Given the description of an element on the screen output the (x, y) to click on. 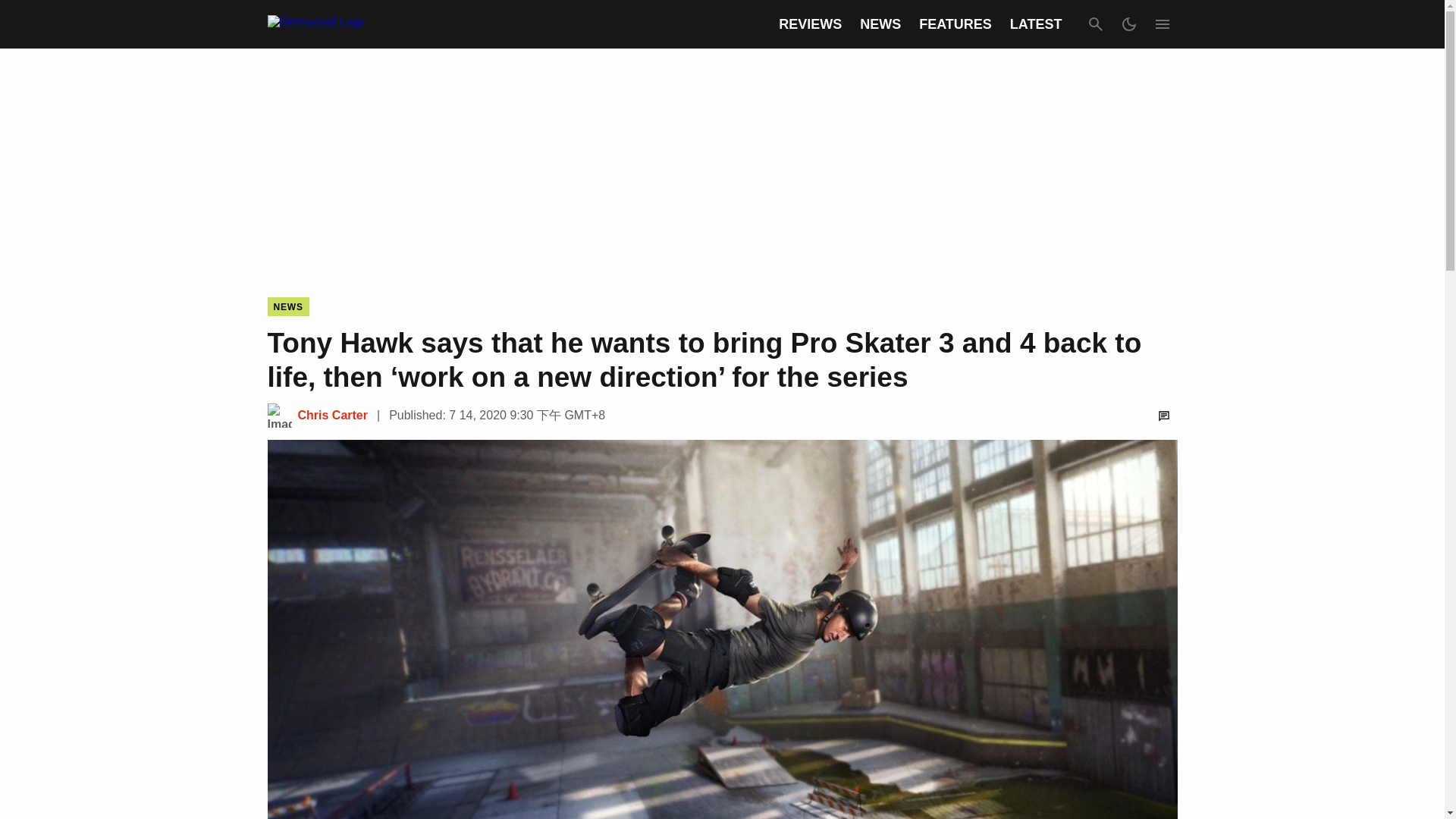
REVIEWS (809, 23)
Dark Mode (1127, 24)
Search (1094, 24)
FEATURES (954, 23)
NEWS (287, 306)
LATEST (1036, 23)
NEWS (880, 23)
Expand Menu (1161, 24)
